Given the description of an element on the screen output the (x, y) to click on. 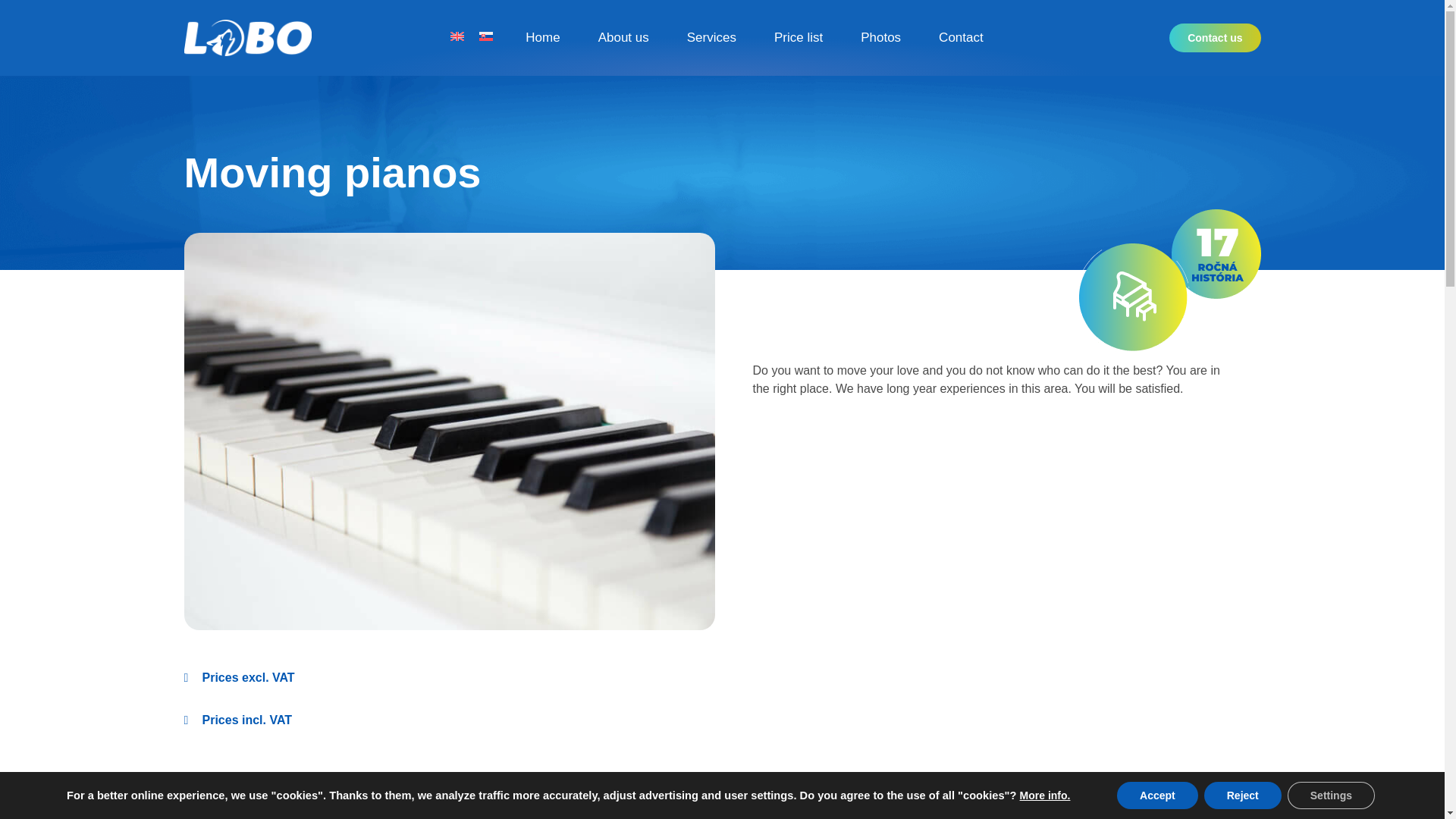
Contact us (1214, 37)
About us (623, 38)
Price list (798, 38)
Contact (961, 38)
Photos (880, 38)
Services (711, 38)
Home (542, 38)
